Given the description of an element on the screen output the (x, y) to click on. 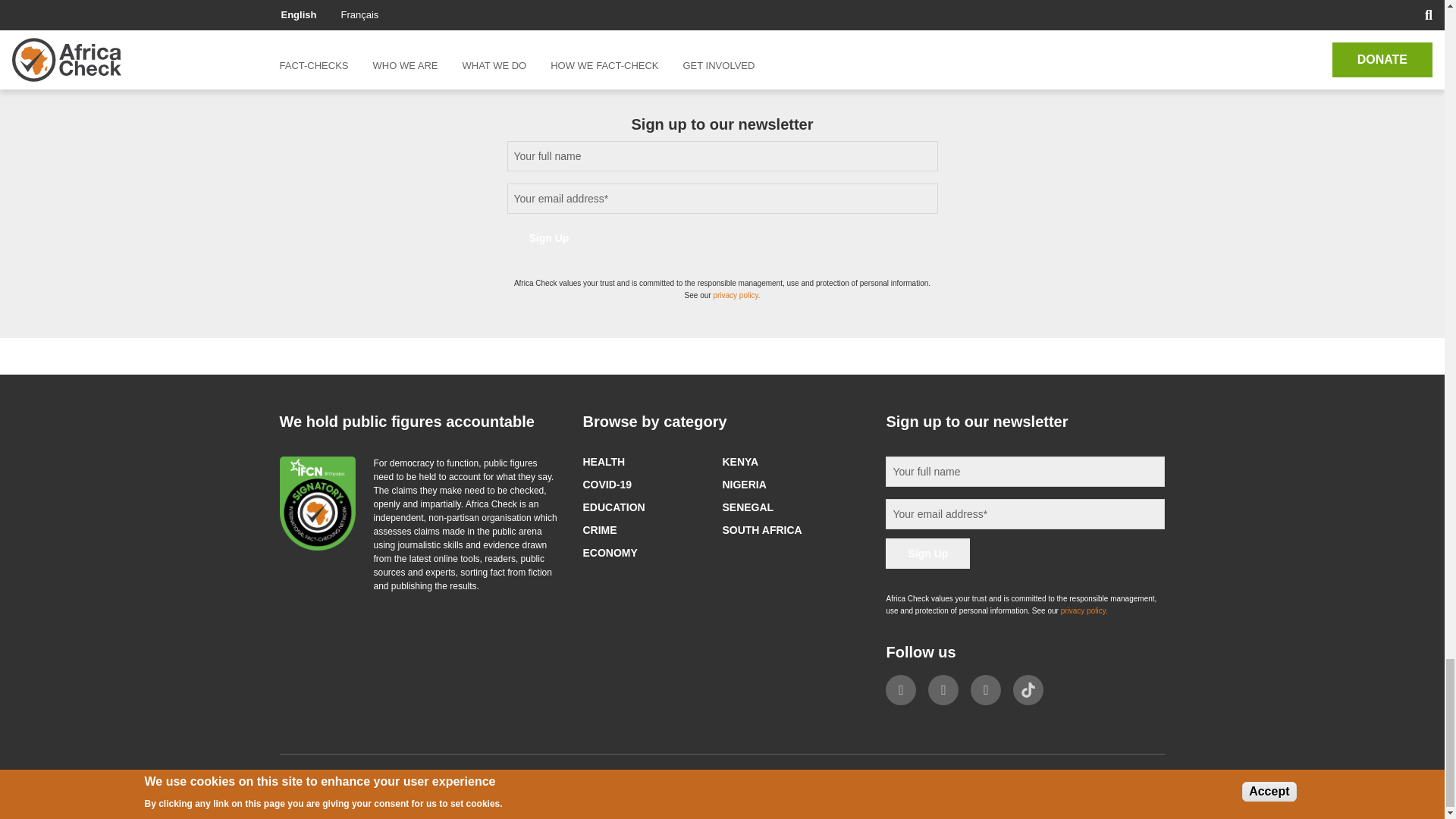
Save (319, 2)
Sign Up (548, 237)
Sign Up (927, 553)
